Given the description of an element on the screen output the (x, y) to click on. 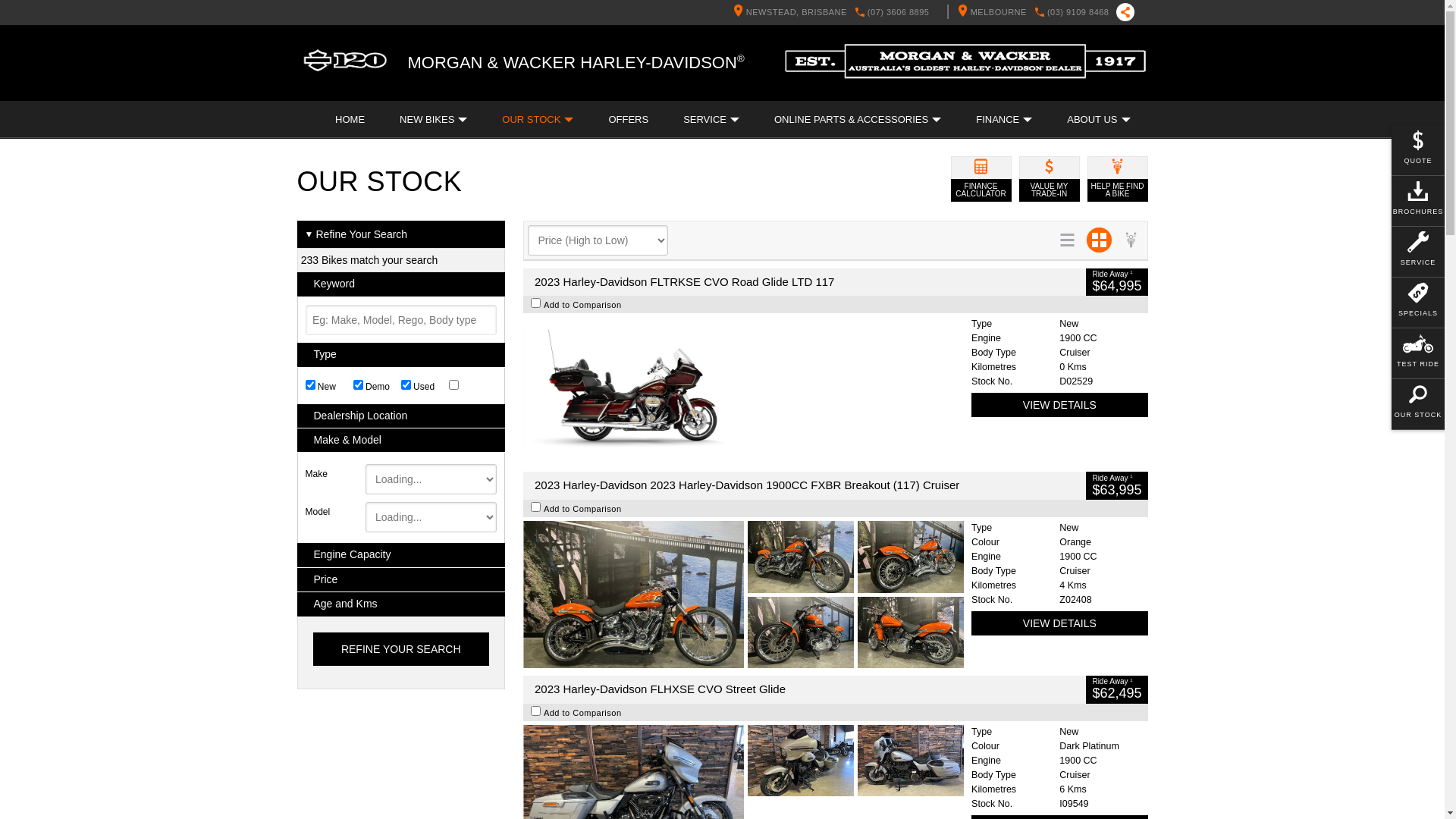
2023 Harley-Davidson FLTRKSE CVO Road Glide LTD 117 Element type: text (804, 282)
NEWS & EVENTS Element type: text (505, 81)
OFFERS Element type: text (627, 119)
VALUE MY TRADE-IN Element type: text (1049, 178)
Price Element type: text (401, 579)
FINANCE CALCULATOR Element type: text (568, 82)
Ride Away 1
$62,495 Element type: text (1116, 689)
MECHANICAL PROTECTION PLAN Element type: text (849, 82)
Keyword Element type: text (401, 283)
MOTORCLOTHES & GM Element type: text (483, 82)
FINANCE Element type: text (452, 82)
ZIP MONEY Element type: text (995, 82)
PERFORMANCE Element type: text (434, 82)
2024 MOTORCYCLES Element type: text (372, 82)
NEWSTEAD, BRISBANE Element type: text (786, 11)
Share this page Element type: hover (1121, 12)
FINANCE CALCULATOR Element type: text (980, 178)
Refine Your Search Element type: text (400, 648)
(07) 3606 8895 Element type: text (898, 11)
Ride Away 1
$64,995 Element type: text (1116, 282)
FINANCE Element type: text (1003, 119)
HELP ME FIND A BIKE Element type: text (1117, 178)
MEET OUR TEAM Element type: text (774, 81)
ABOUT US Element type: text (1098, 119)
MELBOURNE Element type: text (988, 11)
VIEW DETAILS Element type: text (1059, 404)
Type Element type: text (401, 354)
CONTACT US & HOURS Element type: text (639, 81)
MELBOURNE Element type: text (1057, 81)
CASH FOR YOUR BIKE Element type: text (658, 82)
NEW BIKES Element type: text (343, 82)
SERVICE Element type: text (337, 82)
OUR STOCK Element type: text (537, 119)
SERVICE Element type: text (710, 119)
CUSTOM MOTORCYCLES Element type: text (637, 82)
Age and Kms Element type: text (401, 603)
APPLY ONLINE Element type: text (697, 82)
CAREERS Element type: text (964, 81)
AFTERPAY Element type: text (1085, 82)
Engine Capacity Element type: text (401, 554)
2023 MOTORCYCLES Element type: text (523, 82)
ONLINE PARTS & ACCESSORIES Element type: text (857, 119)
2023 Harley-Davidson FLHXSE CVO Street Glide Element type: text (804, 689)
NEW BIKES Element type: text (433, 119)
PARTS OFFERS Element type: text (353, 82)
VIEW DETAILS Element type: text (1059, 623)
2023 Harley-davidson FLTRKSE CVO ROAD GLIDE LTD 117 Element type: hover (743, 390)
2022 MOTORCYCLES Element type: text (675, 82)
SUBSCRIBE TO EMAILS Element type: text (372, 81)
VIEW BIKE RANGE Element type: text (814, 82)
DEMO BIKES Element type: text (439, 82)
Dealership Location Element type: text (401, 415)
USED BIKES Element type: text (537, 82)
Ride Away 1
$63,995 Element type: text (1116, 485)
BRISBANE Element type: text (878, 81)
HOME Element type: text (349, 119)
Make & Model Element type: text (401, 439)
(03) 9109 8468 Element type: text (1078, 11)
